Given the description of an element on the screen output the (x, y) to click on. 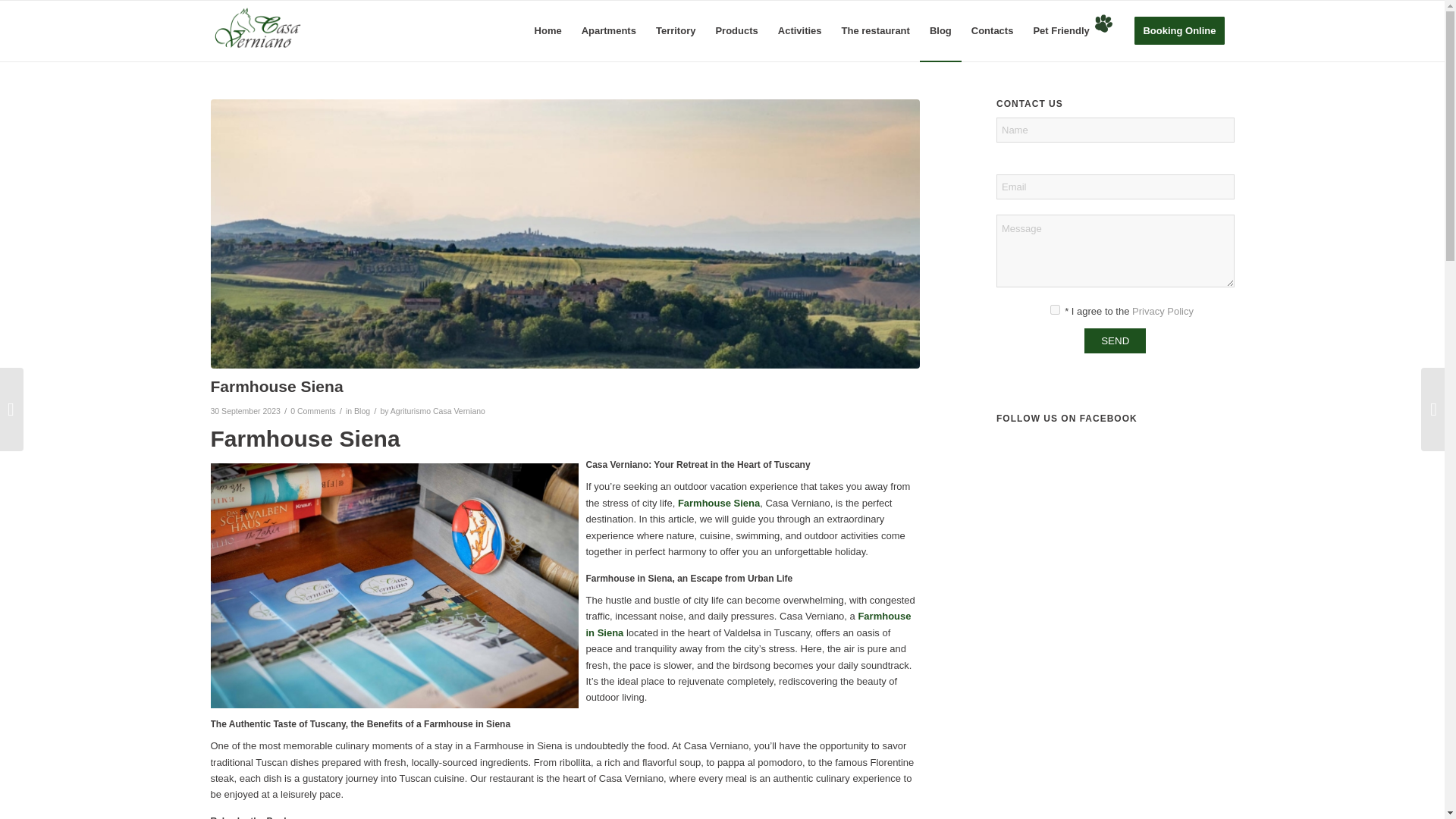
The restaurant (875, 30)
Pet Friendly (1073, 30)
Agriturismo Casa Verniano (437, 410)
Contacts (991, 30)
Booking Online (1178, 30)
Posts by Agriturismo Casa Verniano (437, 410)
SEND (1114, 340)
logo verniano (258, 30)
Territory (676, 30)
Activities (799, 30)
